Given the description of an element on the screen output the (x, y) to click on. 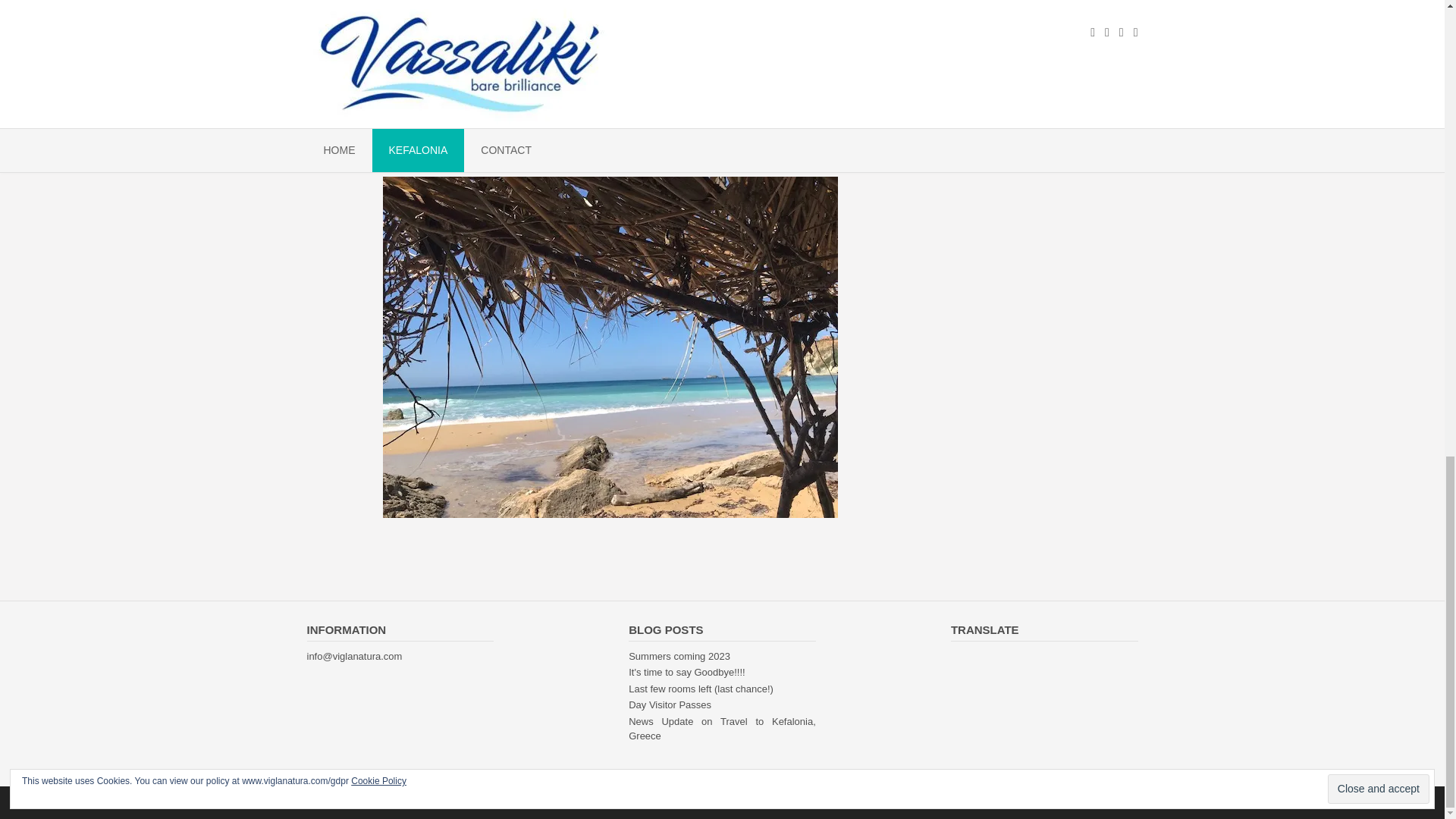
It's time to say Goodbye!!!! (686, 672)
News Update on Travel to Kefalonia, Greece (721, 728)
Summers coming 2023 (679, 655)
Day Visitor Passes (669, 704)
